Given the description of an element on the screen output the (x, y) to click on. 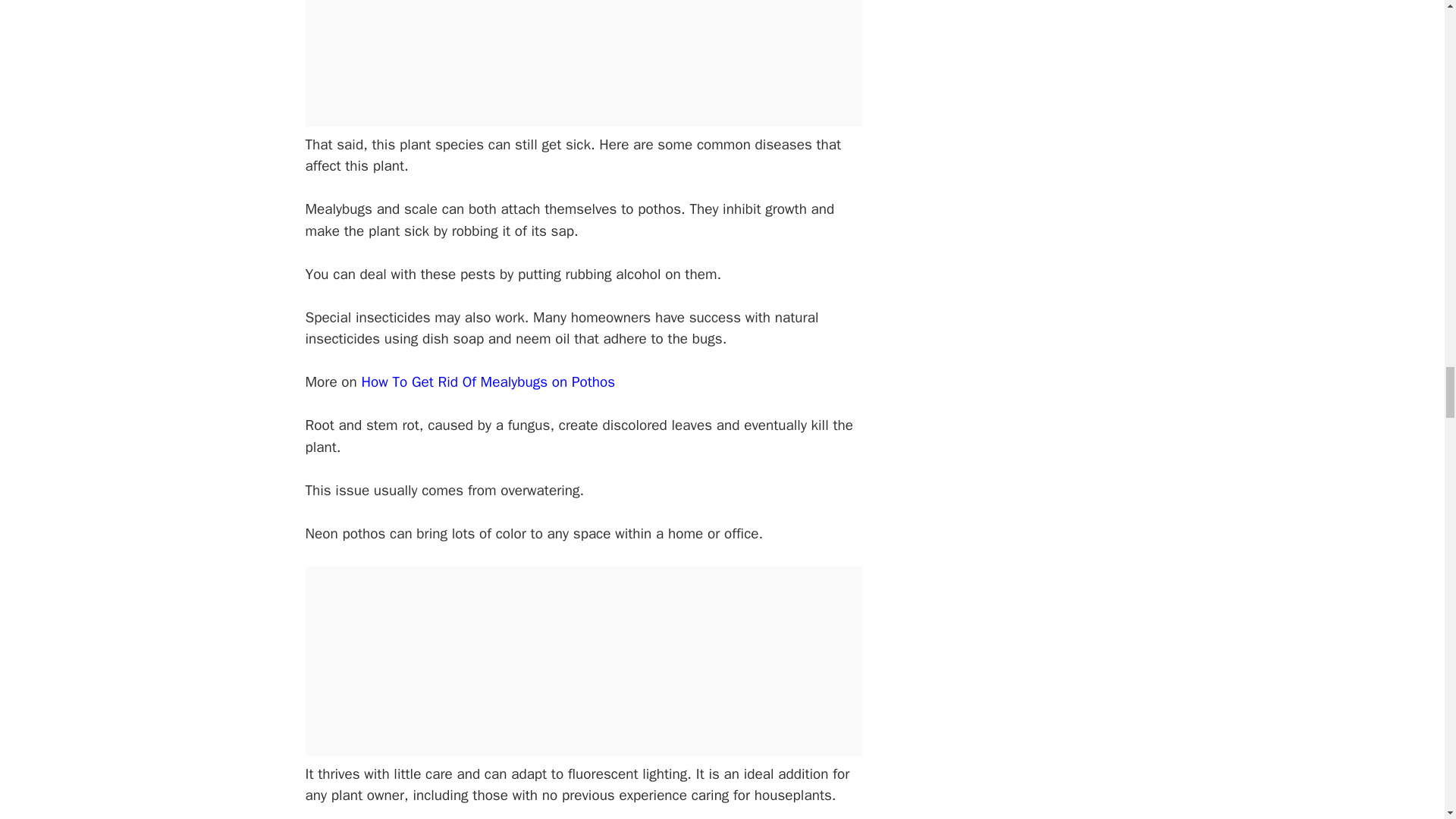
How To Get Rid Of Mealybugs on Pothos (487, 382)
